Given the description of an element on the screen output the (x, y) to click on. 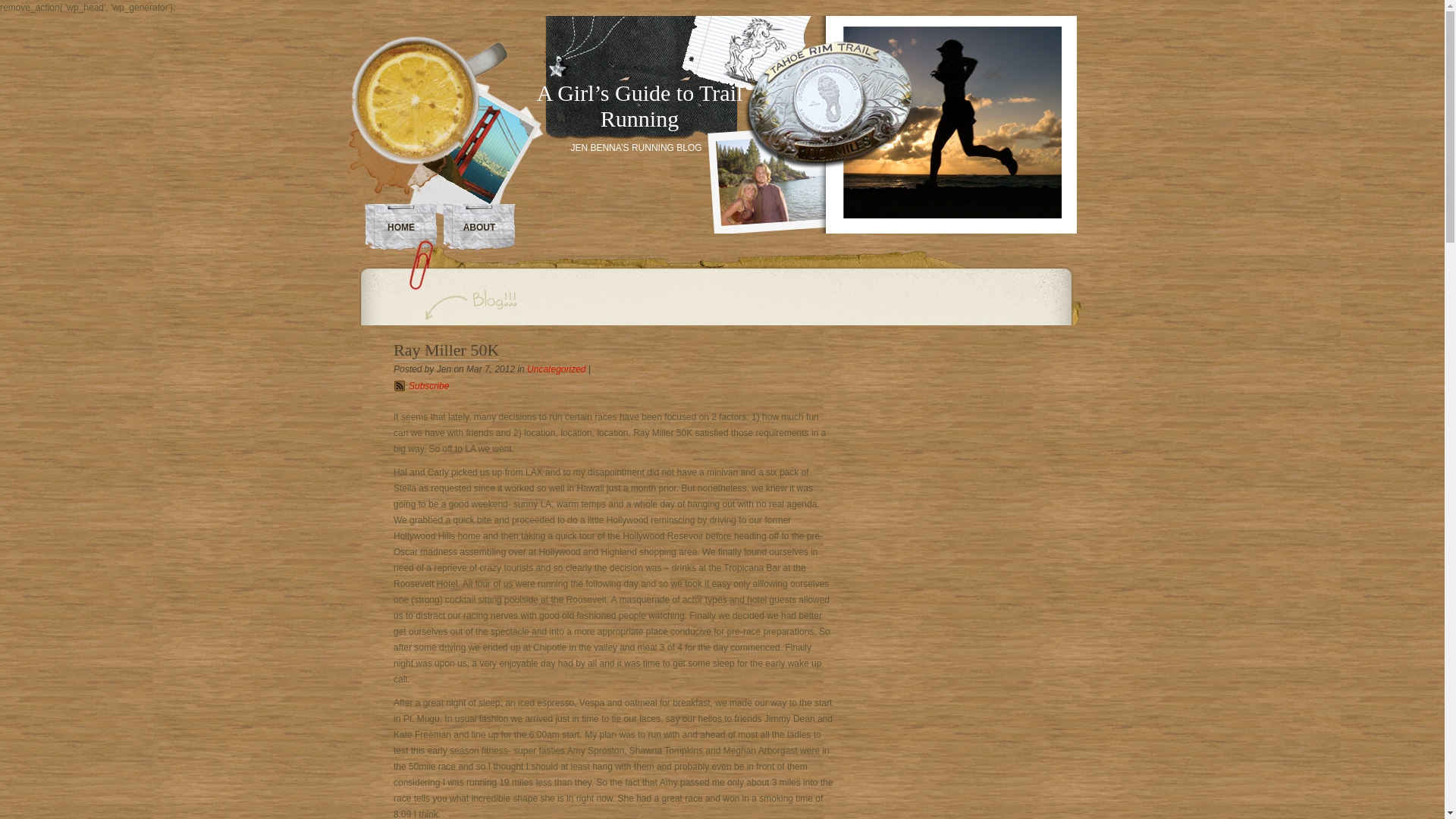
Subscribe (428, 385)
Subscribe to my feed (428, 385)
ABOUT (478, 226)
Uncategorized (556, 368)
Ray Miller 50K (446, 350)
Permanent Link to Ray Miller 50K (446, 350)
HOME (401, 226)
